Given the description of an element on the screen output the (x, y) to click on. 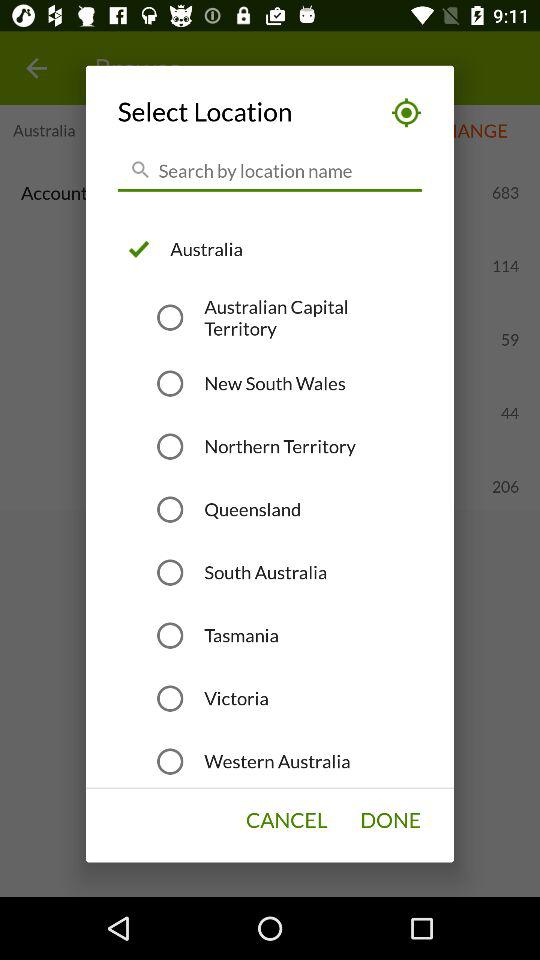
open icon above the queensland (279, 446)
